Given the description of an element on the screen output the (x, y) to click on. 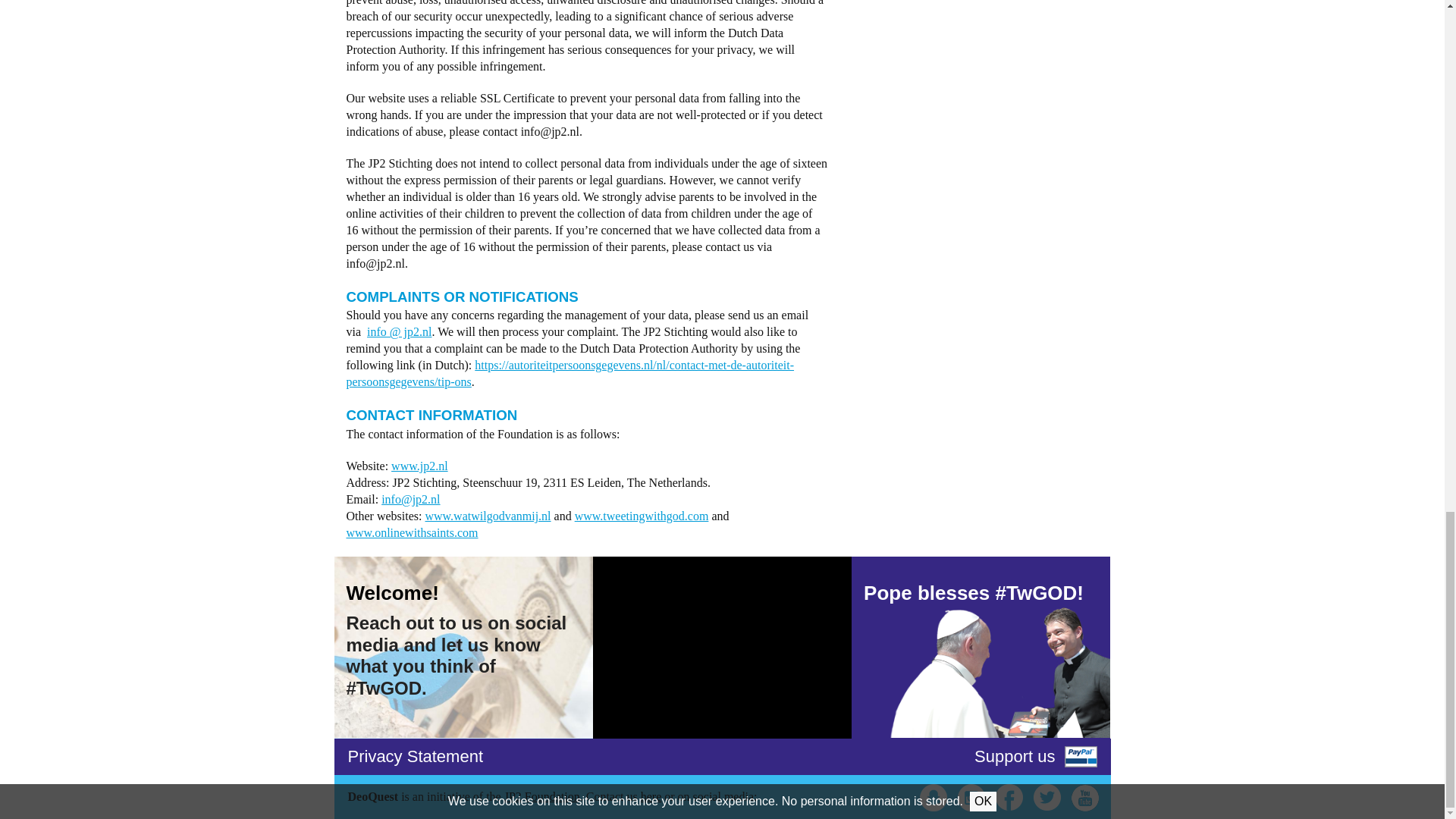
www.jp2.nl (419, 465)
YouTube video player (721, 647)
www.watwilgodvanmij.nl (487, 515)
www.tweetingwithgod.com (642, 515)
